Given the description of an element on the screen output the (x, y) to click on. 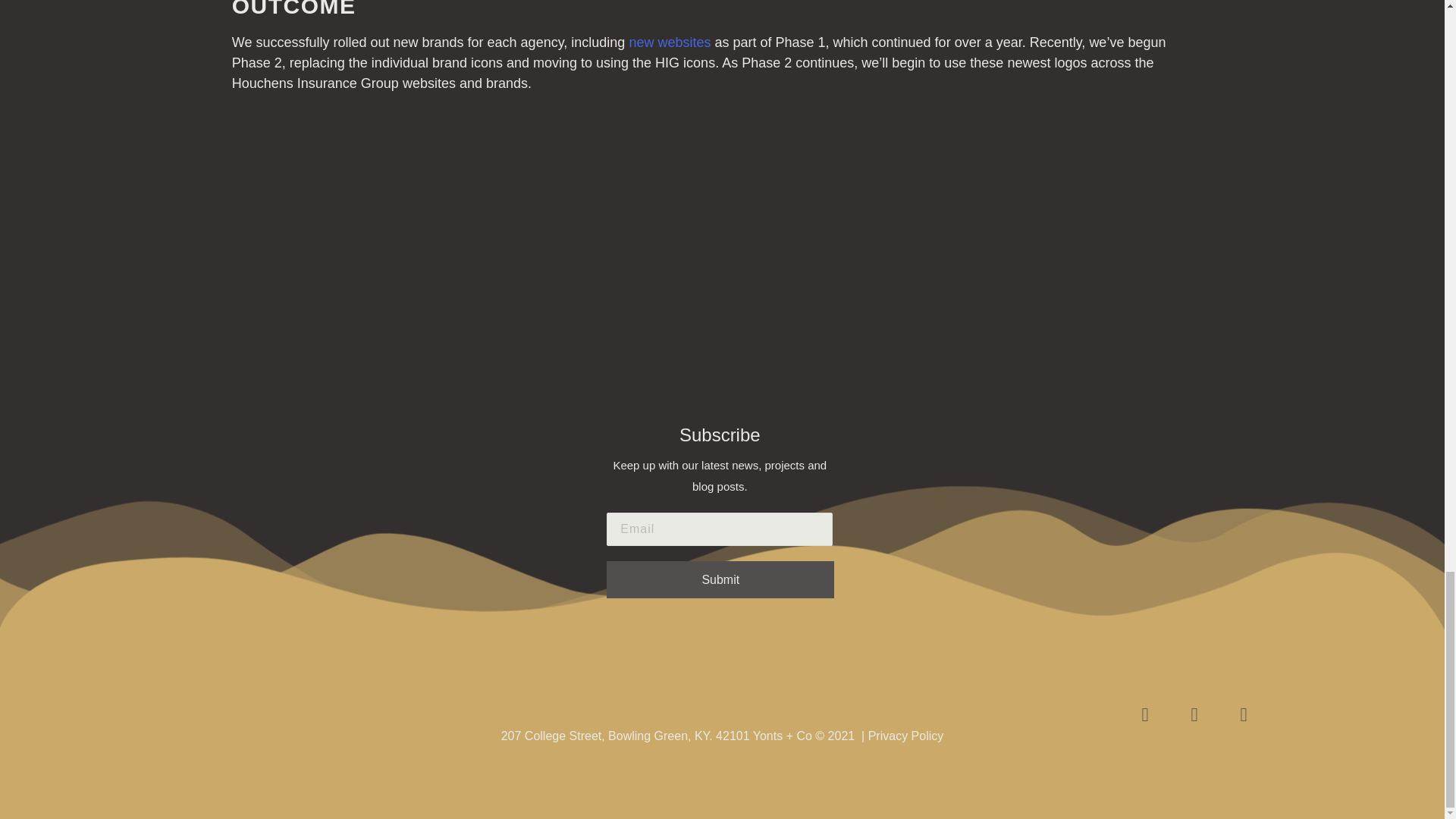
Privacy Policy (905, 735)
new websites (669, 42)
Submit (720, 579)
Submit (720, 579)
